Given the description of an element on the screen output the (x, y) to click on. 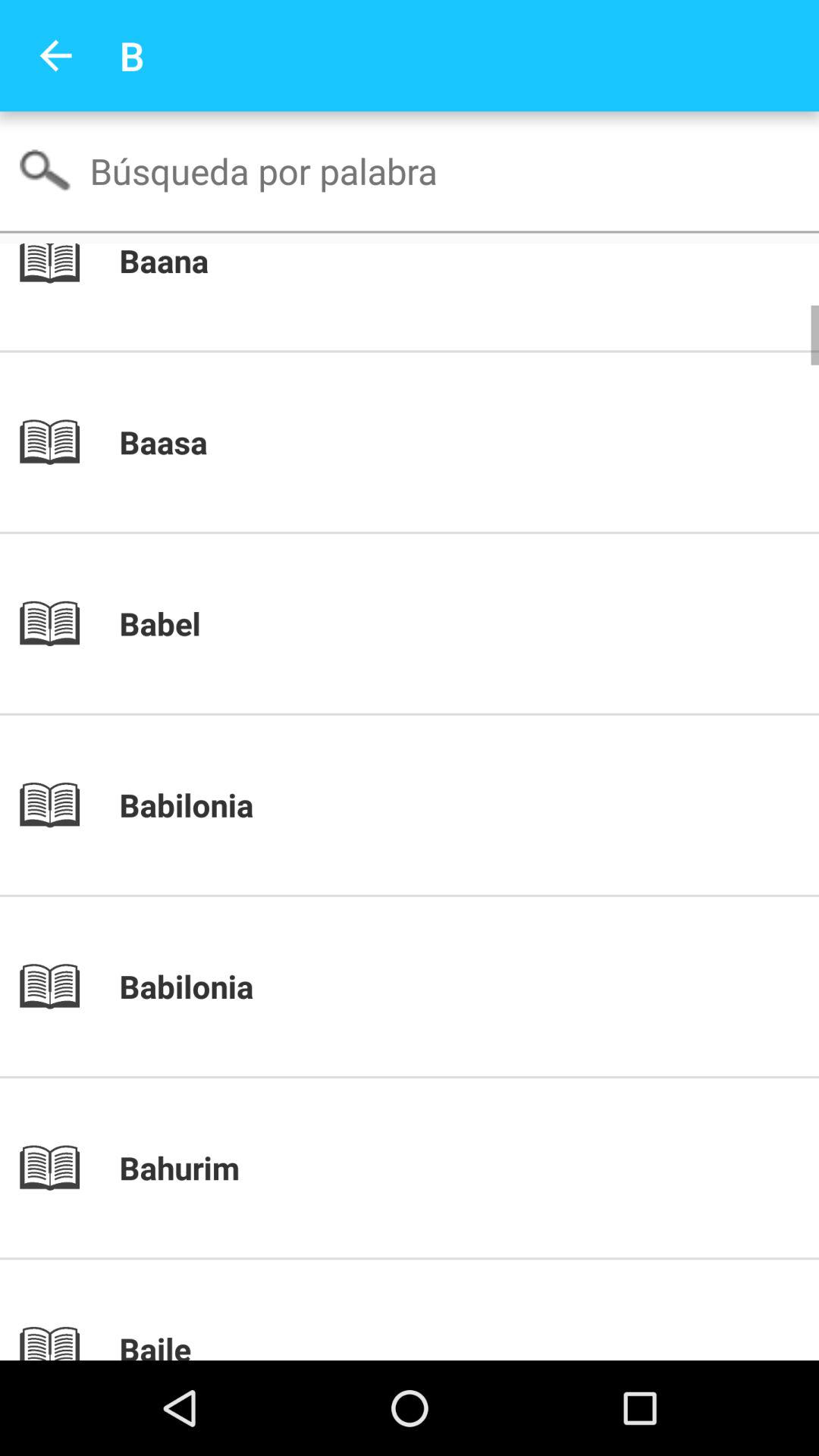
open the app to the left of the b item (55, 55)
